Given the description of an element on the screen output the (x, y) to click on. 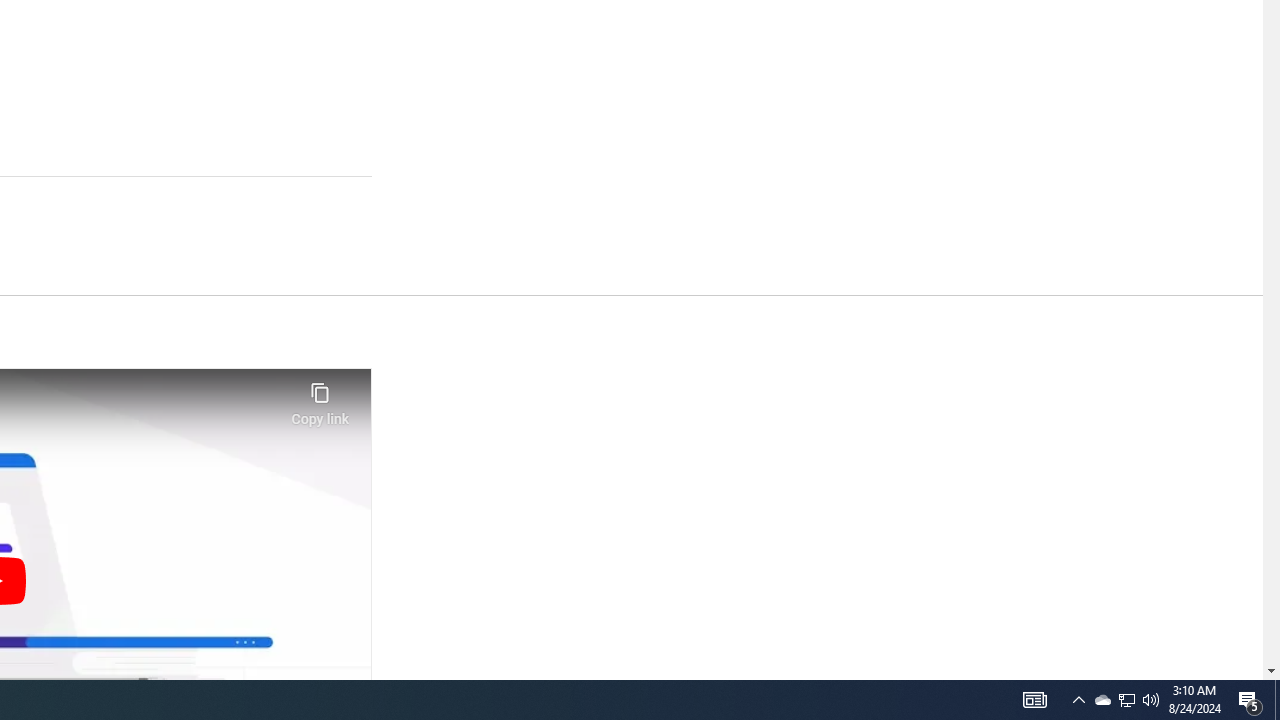
Copy link (319, 398)
